Given the description of an element on the screen output the (x, y) to click on. 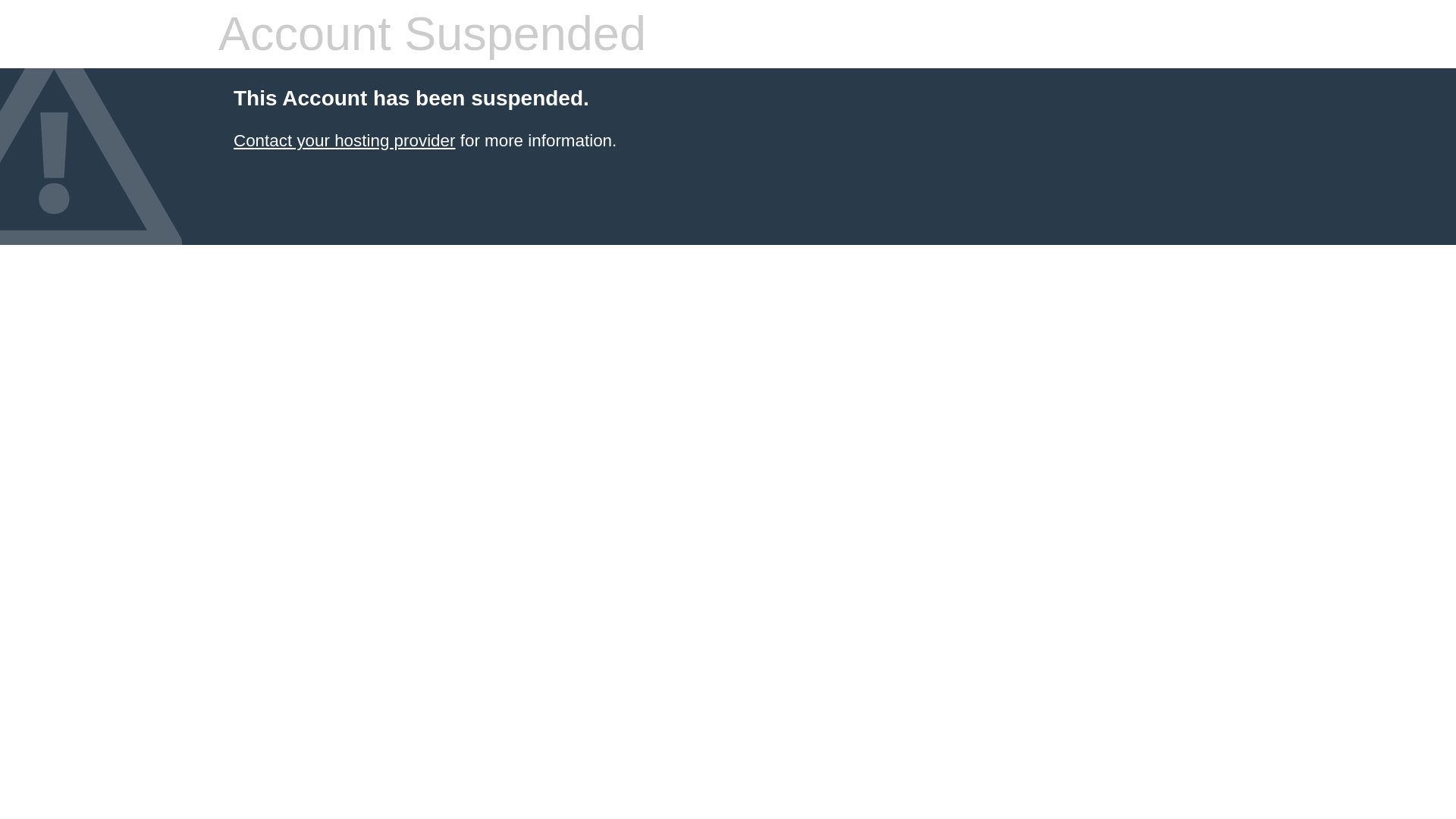
Contact your hosting provider (343, 140)
